Given the description of an element on the screen output the (x, y) to click on. 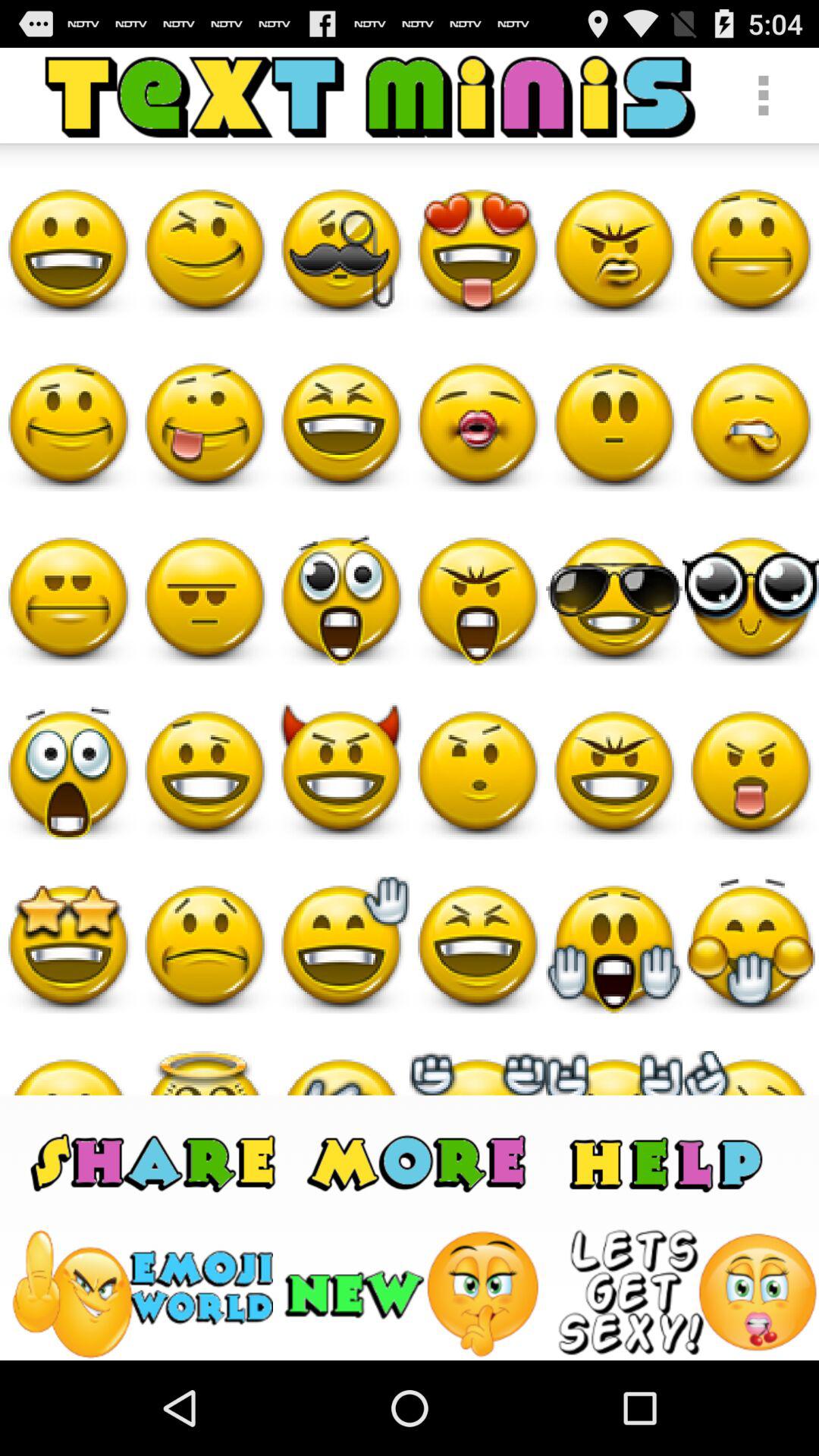
go to emoji (141, 1293)
